Given the description of an element on the screen output the (x, y) to click on. 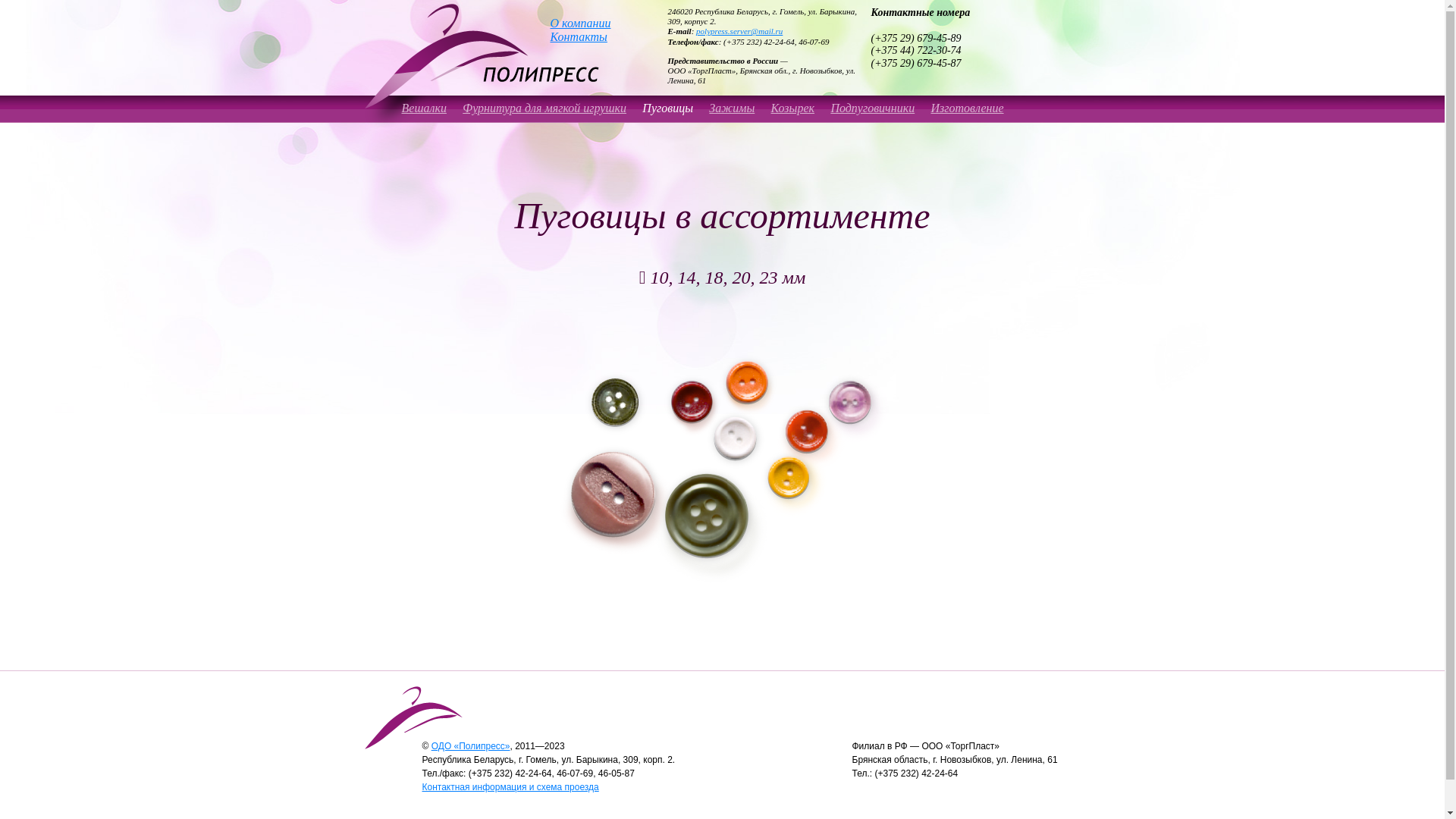
polypress.server@mail.ru Element type: text (739, 30)
